Given the description of an element on the screen output the (x, y) to click on. 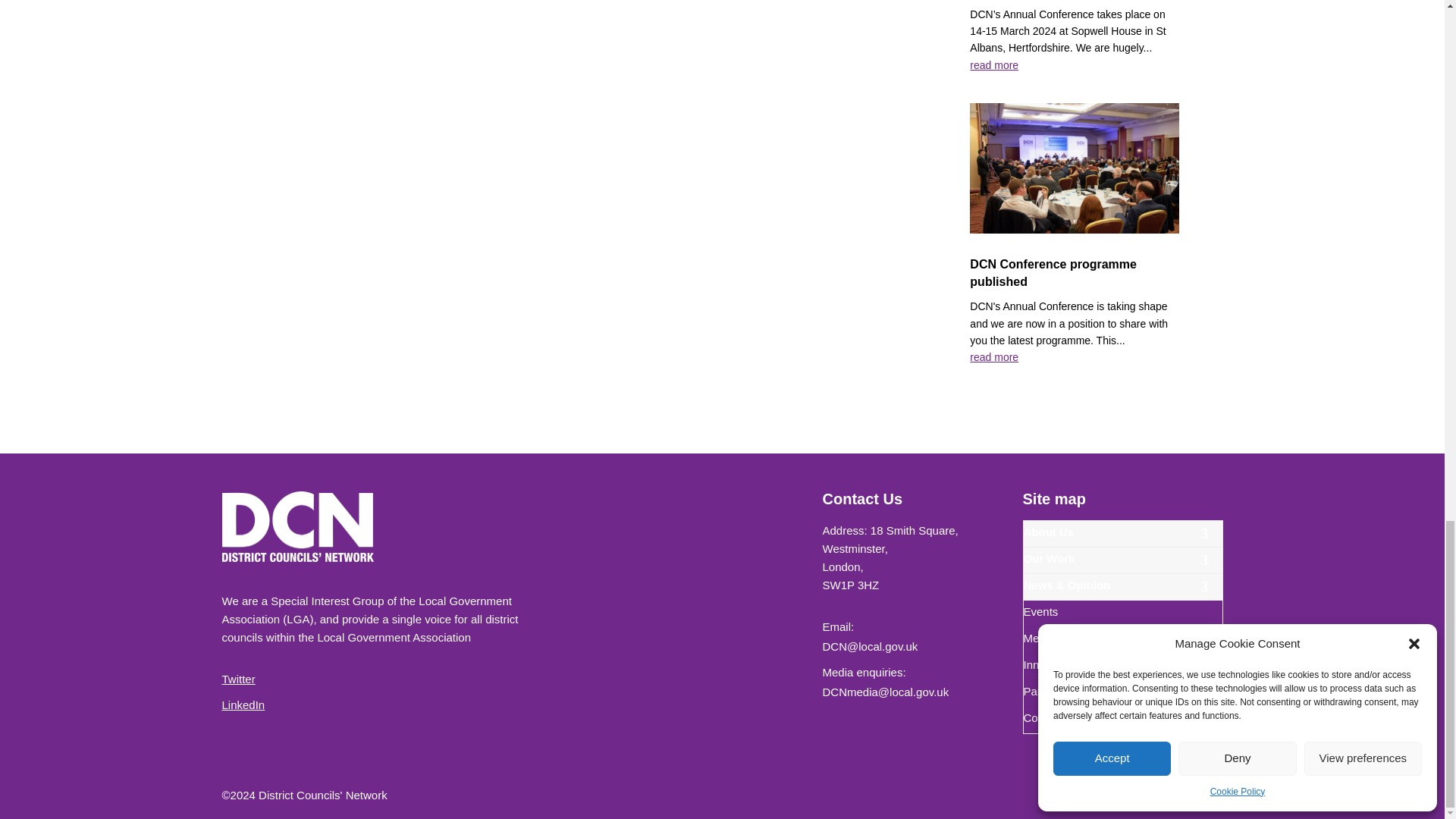
DCN logo white (296, 526)
